Given the description of an element on the screen output the (x, y) to click on. 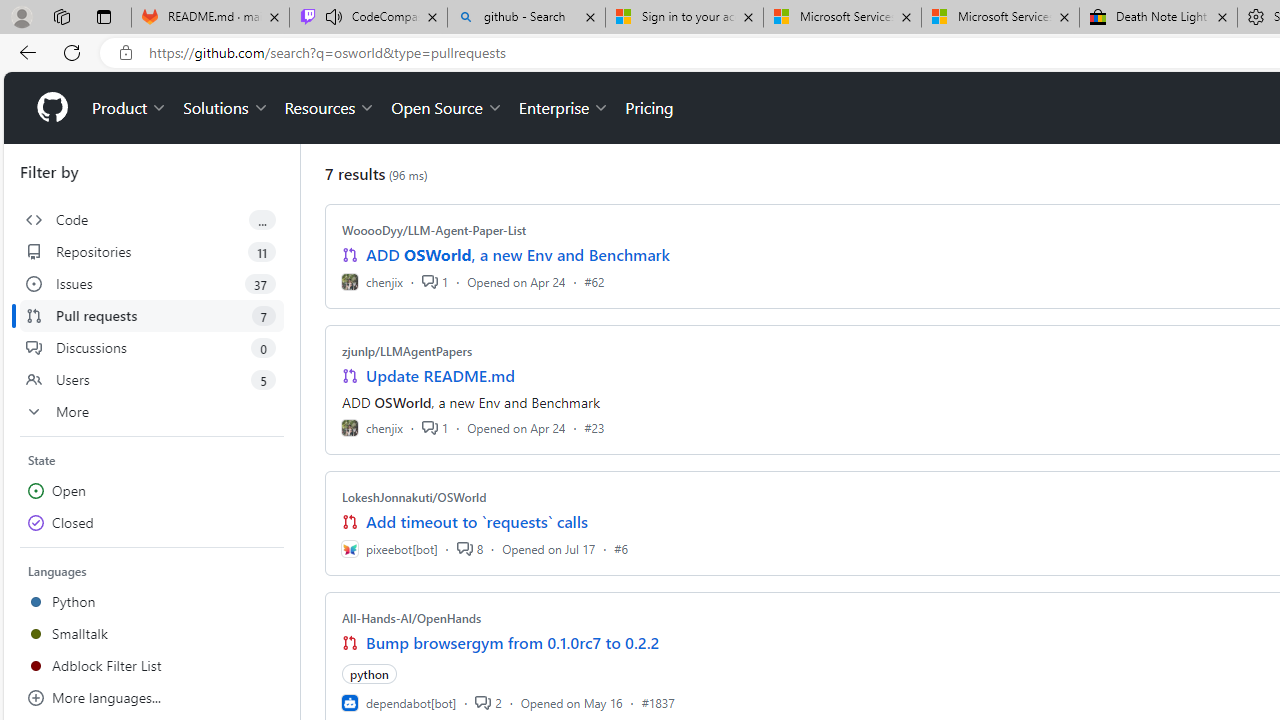
Resources (330, 107)
Mute tab (333, 16)
2 (487, 702)
Open Source (446, 107)
Resources (330, 107)
Enterprise (563, 107)
#6 (621, 548)
Update README.md (440, 376)
